Given the description of an element on the screen output the (x, y) to click on. 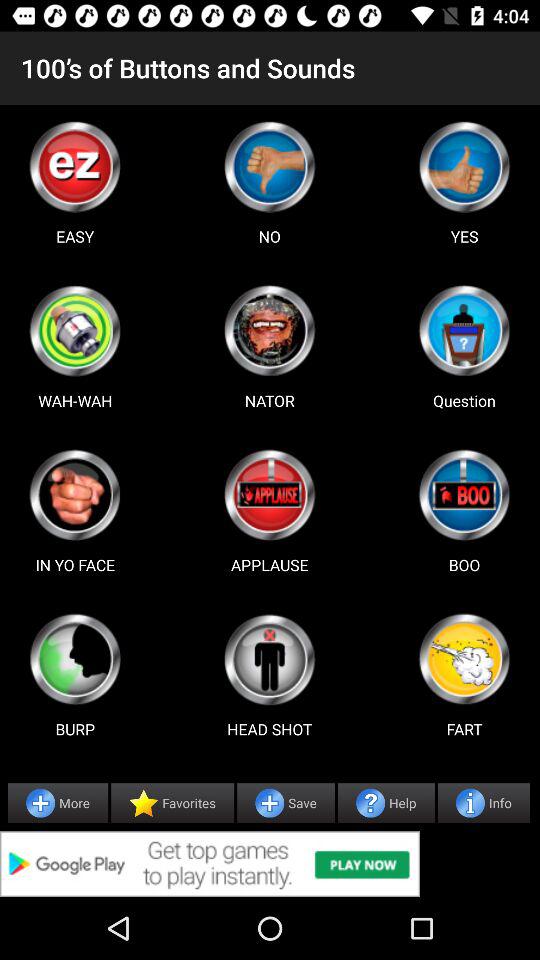
advertisement (270, 864)
